Given the description of an element on the screen output the (x, y) to click on. 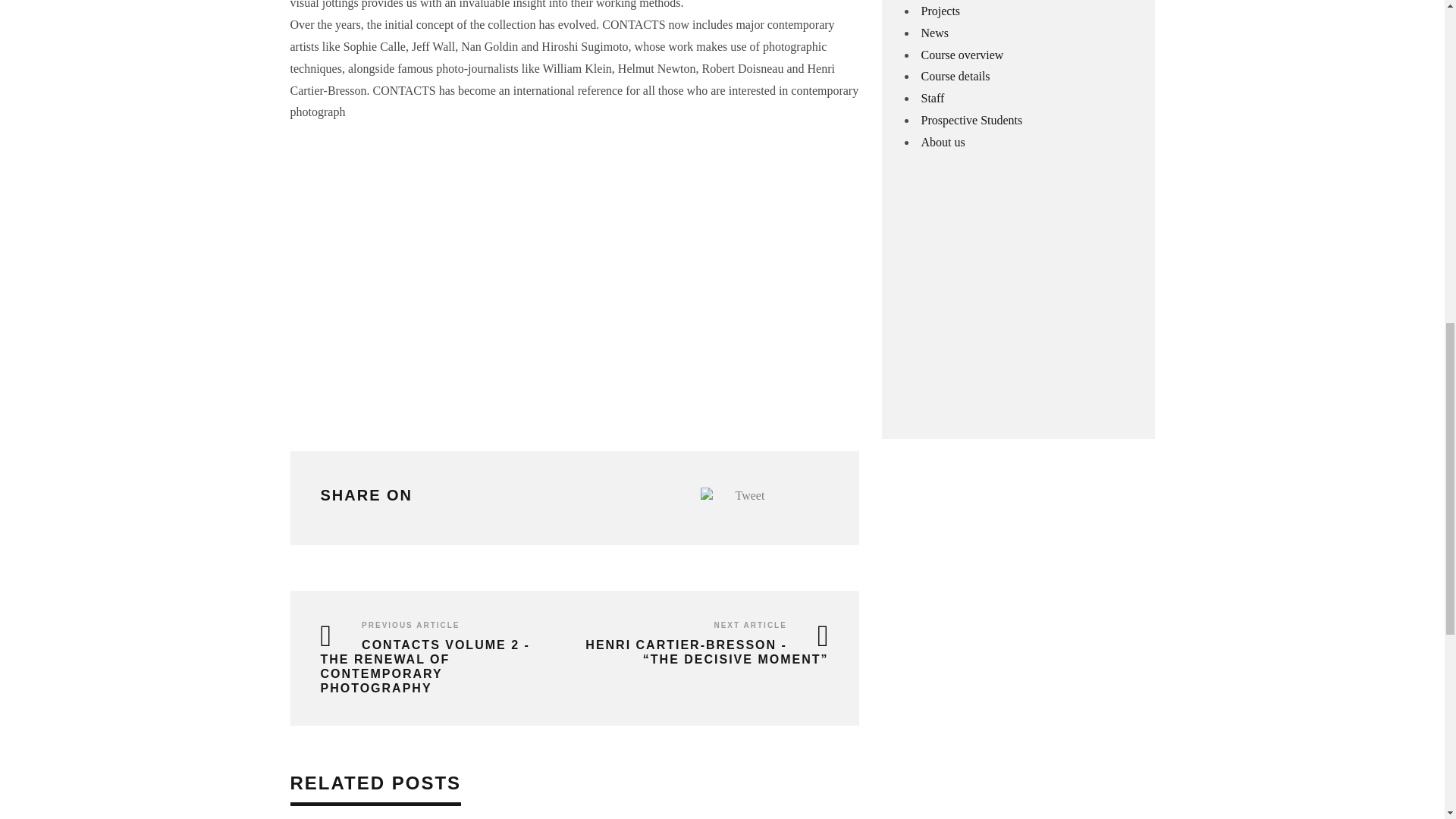
NEXT ARTICLE (749, 624)
CONTACTS VOLUME 2 - THE RENEWAL OF CONTEMPORARY PHOTOGRAPHY (424, 666)
Tweet (750, 495)
PREVIOUS ARTICLE (410, 624)
